Given the description of an element on the screen output the (x, y) to click on. 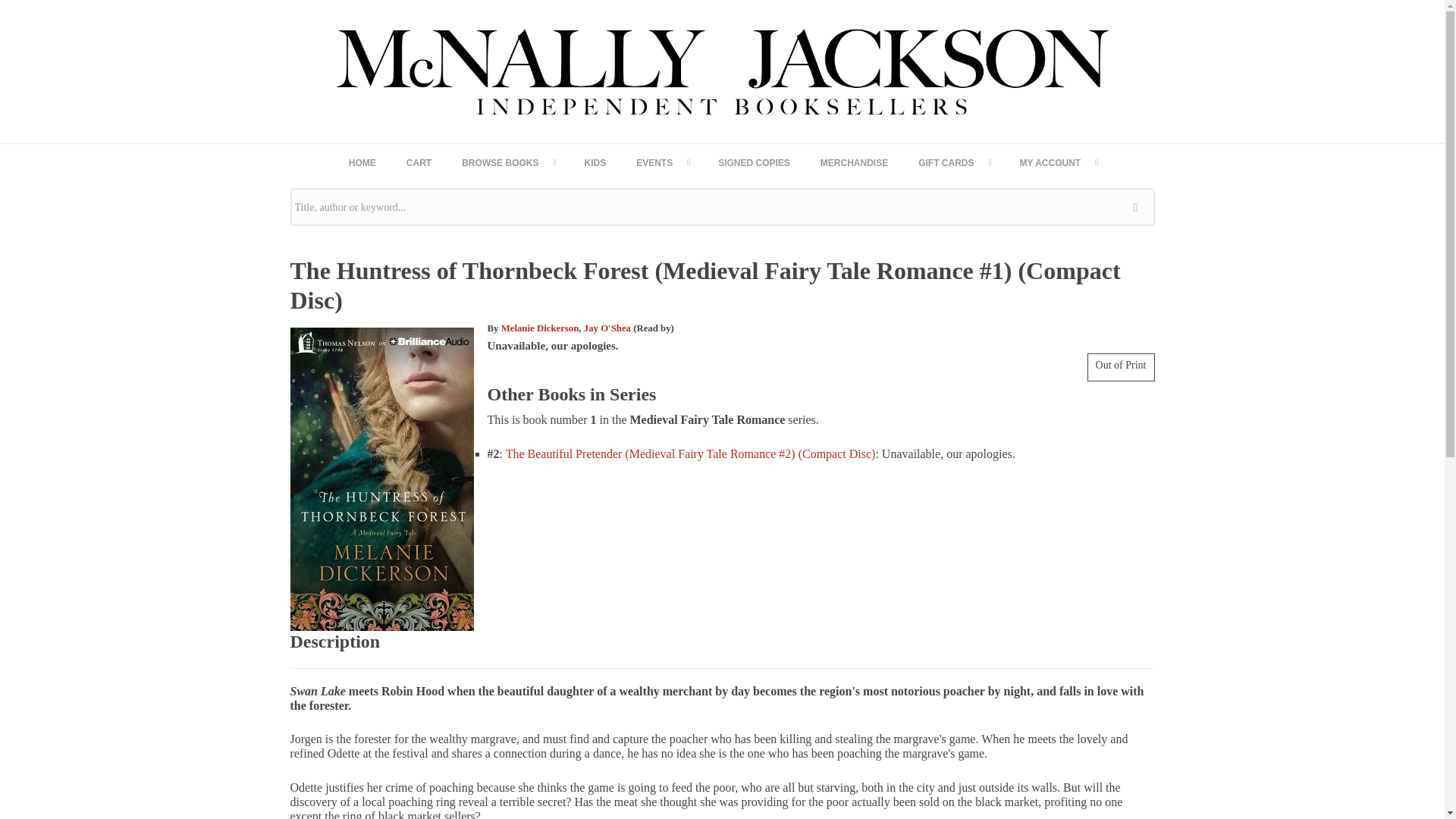
HOME (362, 162)
GIFT CARDS (953, 162)
Melanie Dickerson (539, 327)
SIGNED COPIES (754, 162)
KIDS (595, 162)
EVENTS (662, 162)
Title, author or keyword... (721, 207)
Jay O'Shea (606, 327)
MERCHANDISE (853, 162)
MY ACCOUNT (1058, 162)
CART (418, 162)
BROWSE BOOKS (507, 162)
